Given the description of an element on the screen output the (x, y) to click on. 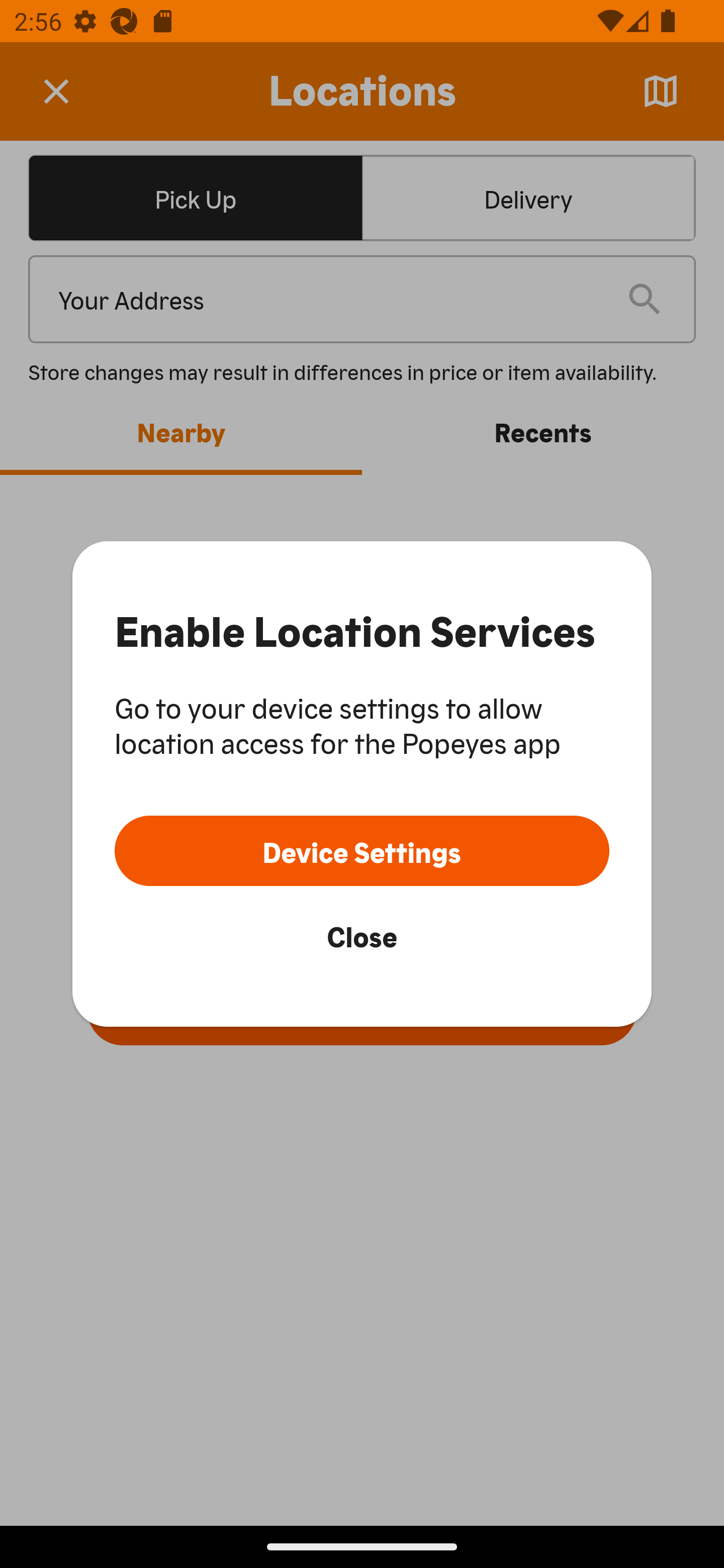
Device Settings (361, 850)
Close (361, 935)
